Given the description of an element on the screen output the (x, y) to click on. 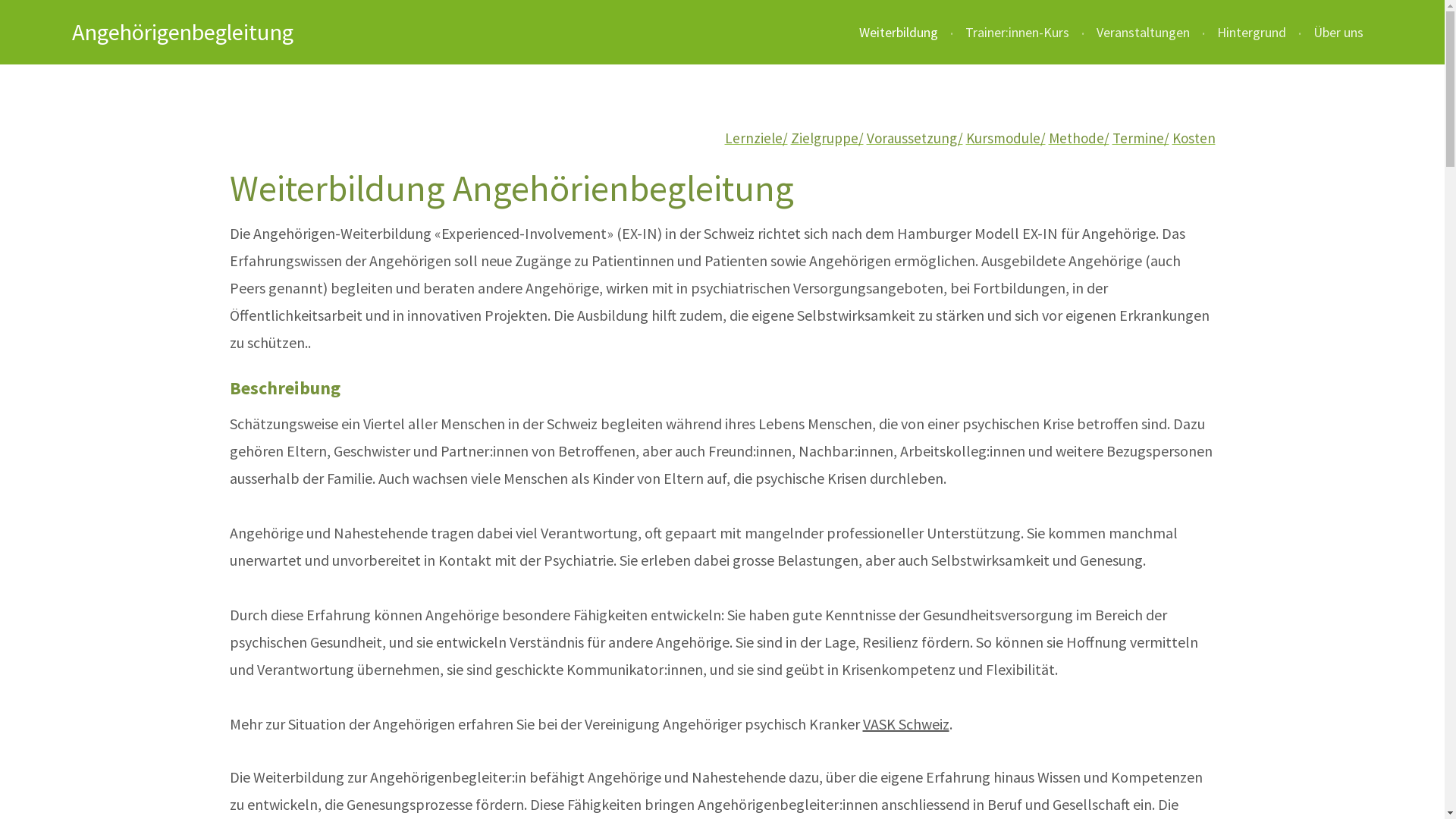
Kursmodule/ Element type: text (1005, 137)
Kosten Element type: text (1193, 137)
Methode/ Element type: text (1078, 137)
Weiterbildung Element type: text (898, 32)
Voraussetzung/ Element type: text (914, 137)
Zielgruppe/ Element type: text (826, 137)
Lernziele/ Element type: text (755, 137)
Trainer:innen-Kurs Element type: text (1017, 32)
Termine/ Element type: text (1139, 137)
Veranstaltungen Element type: text (1142, 32)
VASK Schweiz Element type: text (905, 723)
Hintergrund Element type: text (1251, 32)
